Given the description of an element on the screen output the (x, y) to click on. 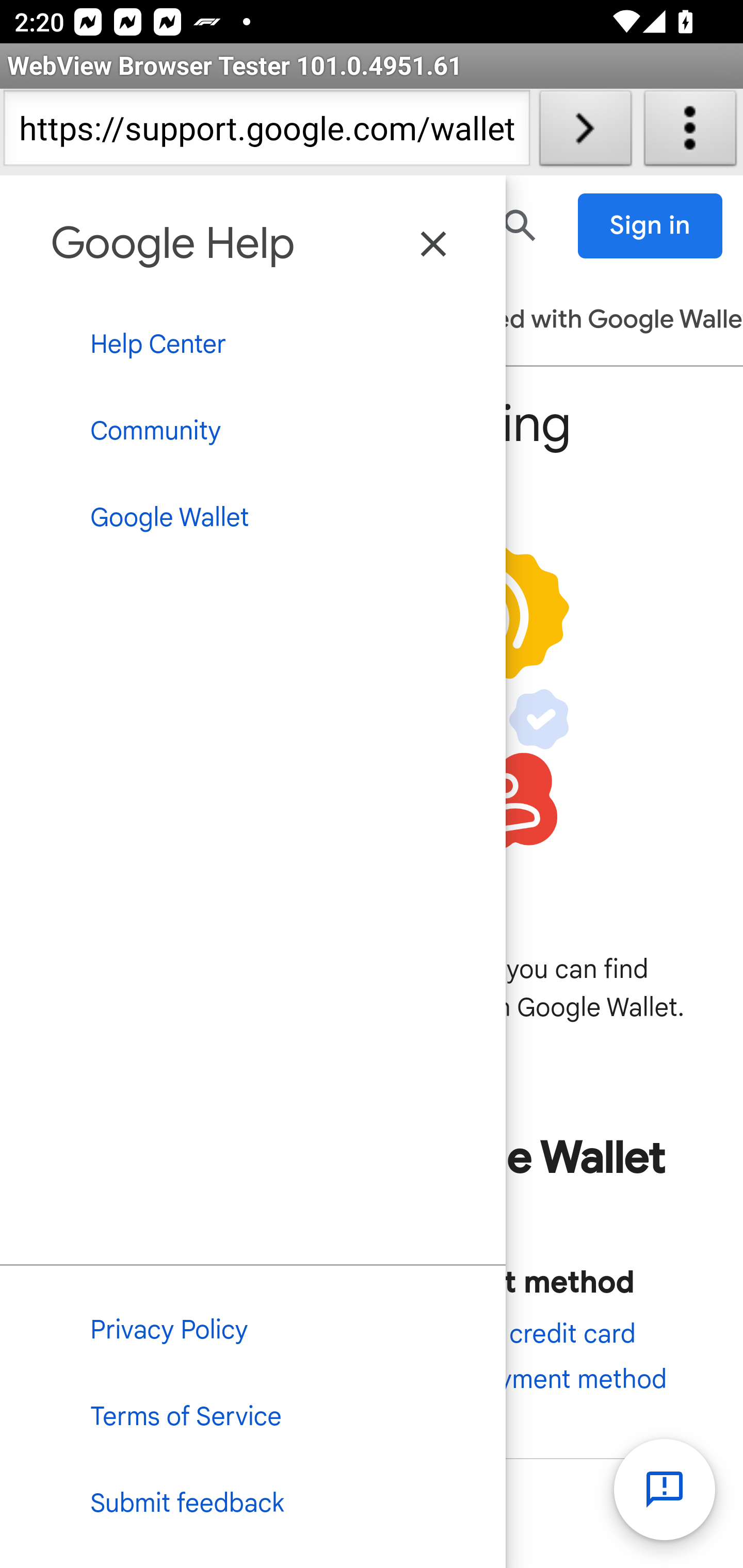
Load URL (585, 132)
About WebView (690, 132)
Google Help (173, 242)
Close menu (433, 244)
Help Center (252, 344)
Community (252, 430)
Google Wallet (252, 517)
Privacy Policy (252, 1330)
Terms of Service (252, 1417)
Submit feedback (252, 1505)
